Given the description of an element on the screen output the (x, y) to click on. 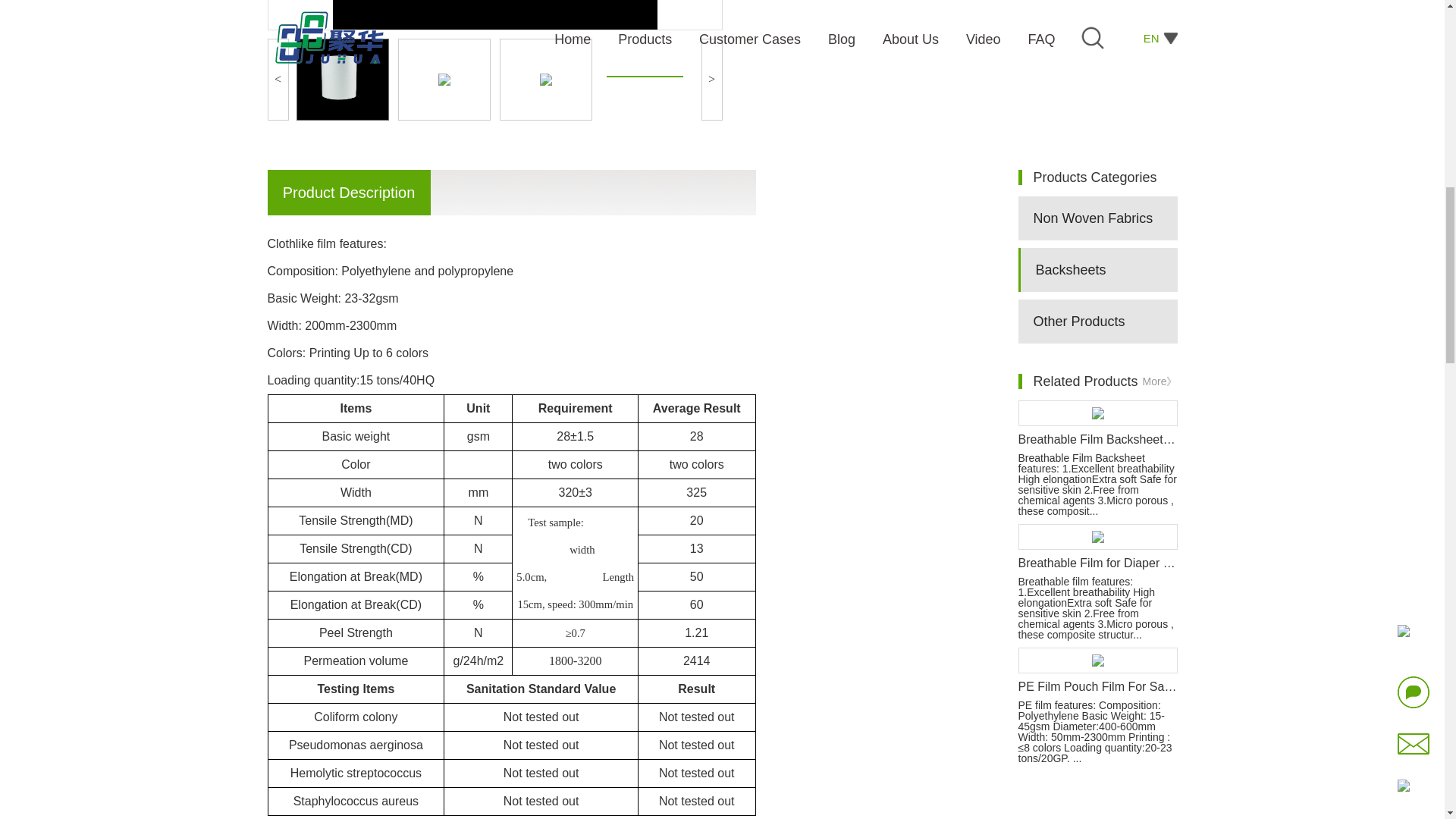
clothlike film (341, 79)
clothlike film price (443, 79)
diaper making (545, 79)
